Given the description of an element on the screen output the (x, y) to click on. 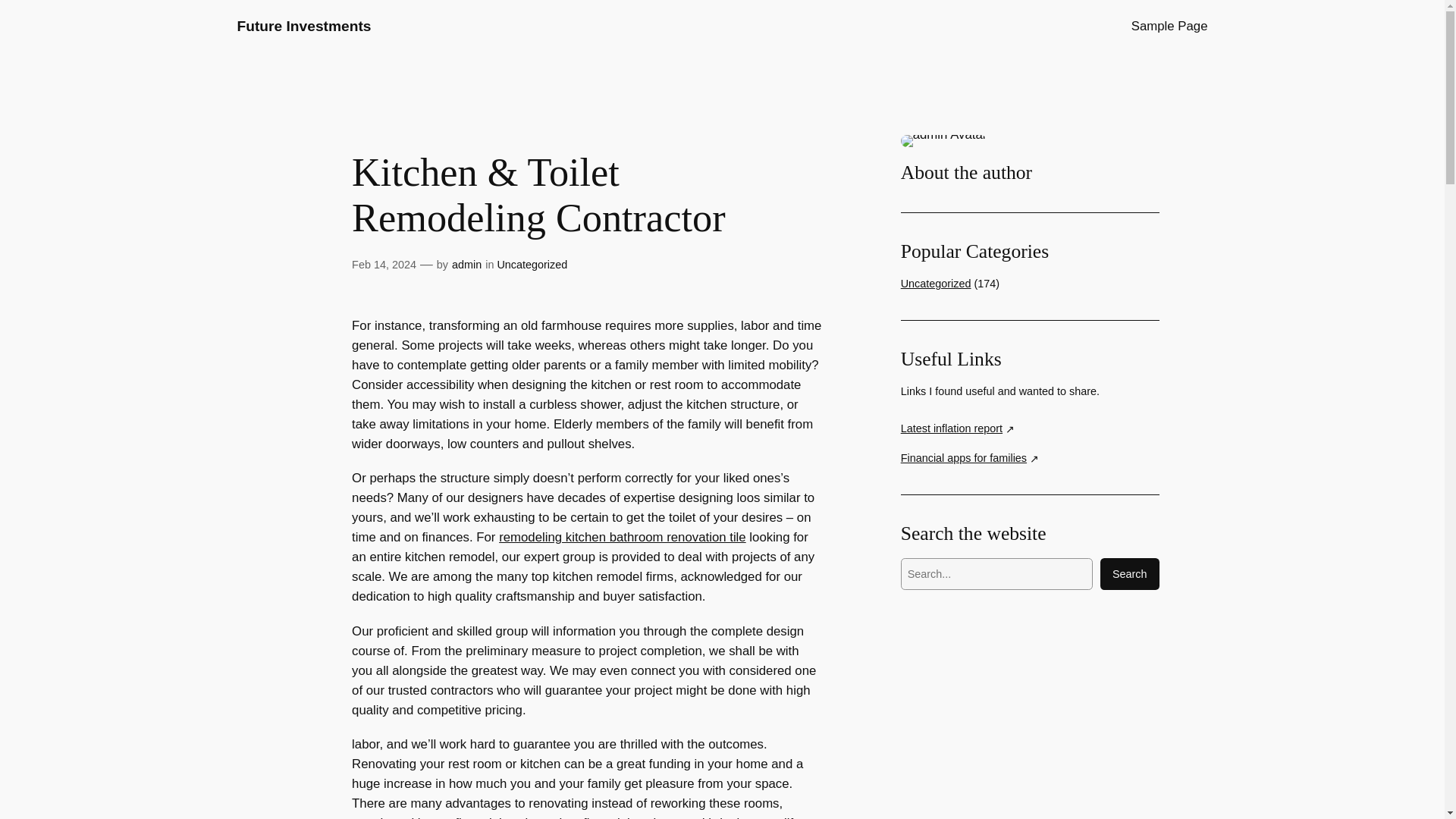
Sample Page (1169, 26)
admin (466, 264)
Financial apps for families (970, 457)
Uncategorized (531, 264)
remodeling kitchen bathroom renovation tile (622, 536)
Future Investments (303, 26)
Latest inflation report (957, 428)
Search (1129, 573)
Feb 14, 2024 (384, 264)
Uncategorized (936, 283)
